Given the description of an element on the screen output the (x, y) to click on. 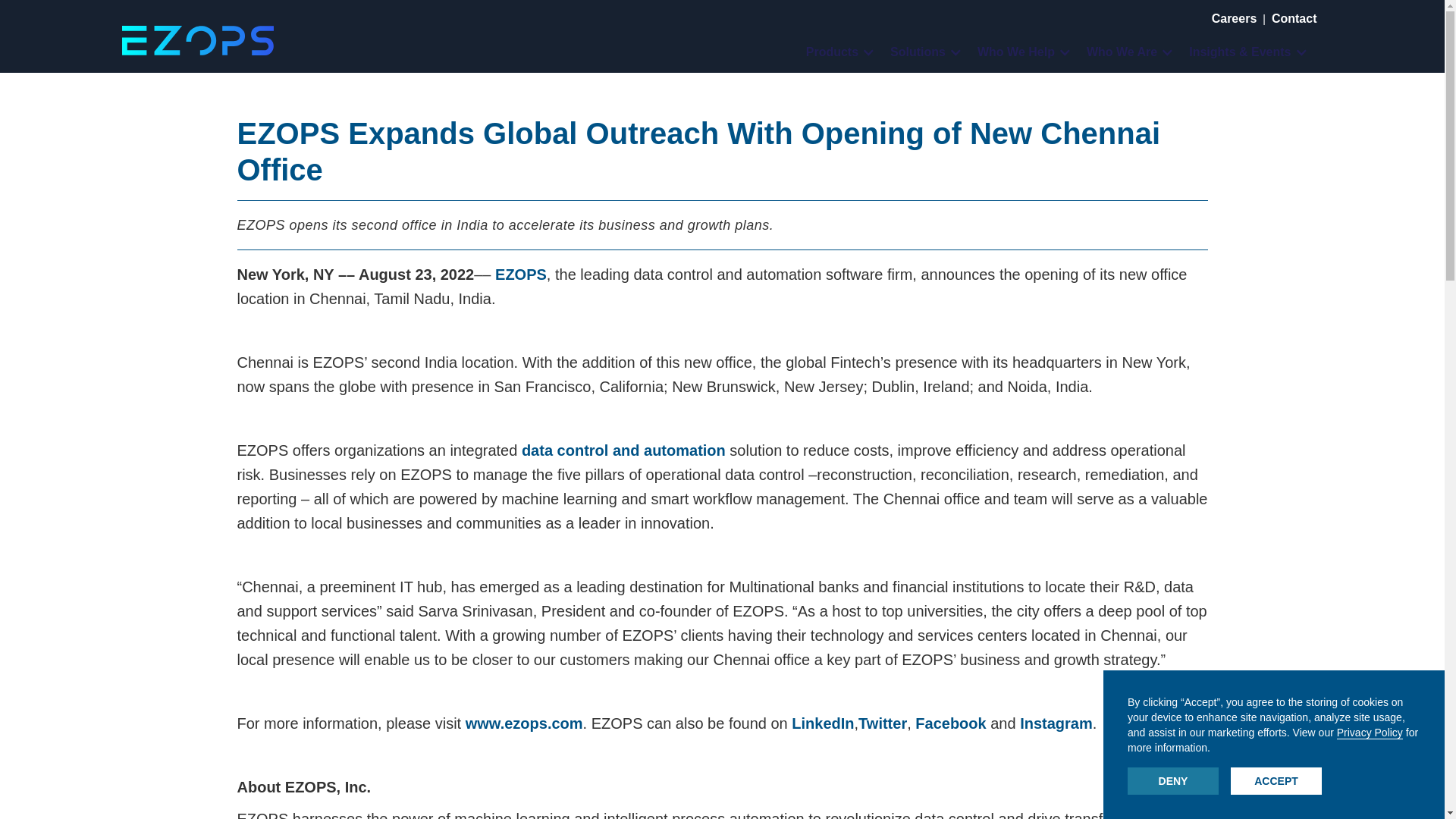
data control and automation (623, 450)
EZOPS (521, 274)
Contact (1294, 18)
Twitter (883, 723)
Instagram (1056, 723)
LinkedIn (822, 723)
Facebook (949, 723)
Careers (1234, 18)
 www.ezops.com (521, 723)
